Given the description of an element on the screen output the (x, y) to click on. 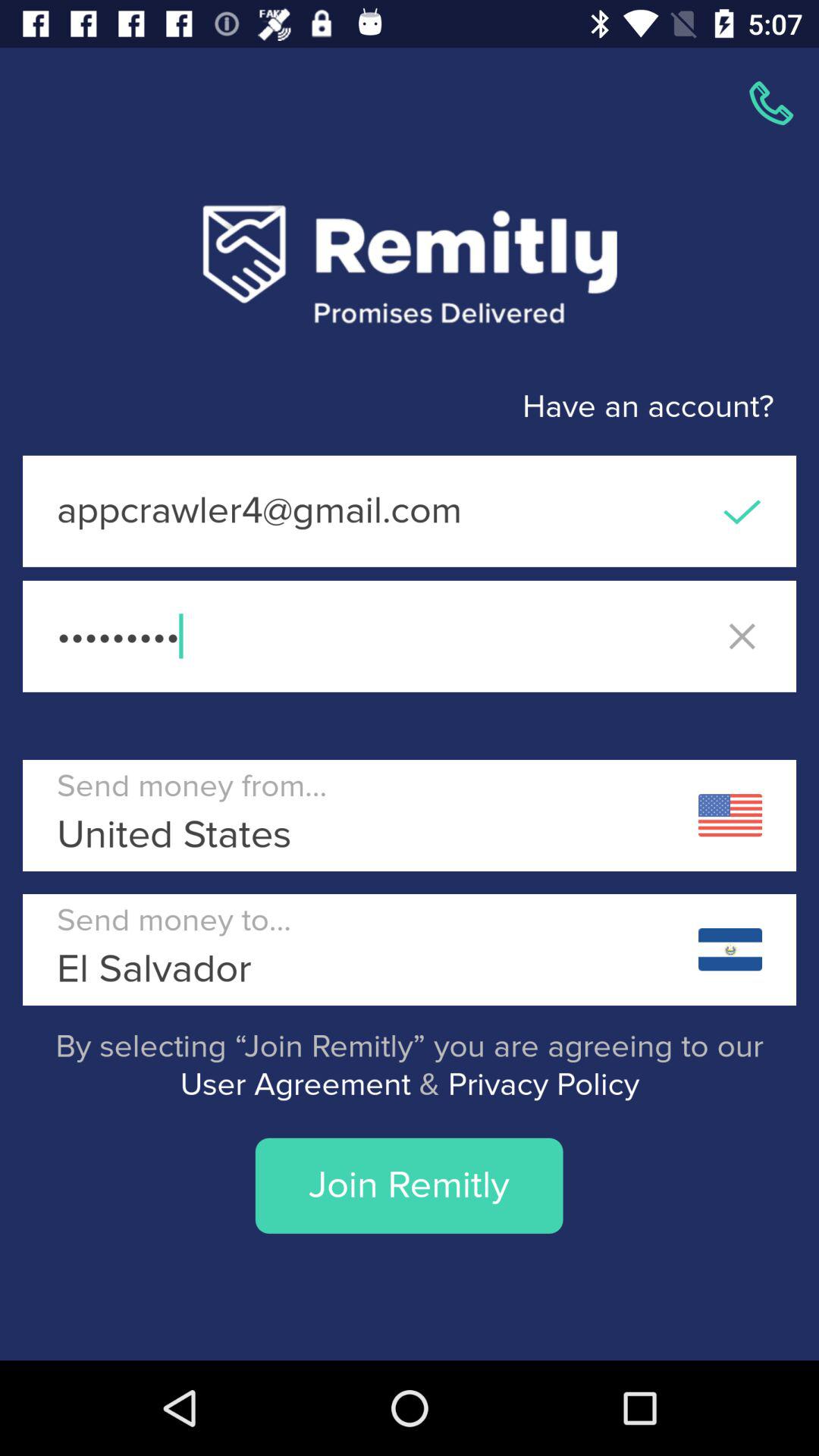
scroll to have an account? (387, 406)
